Given the description of an element on the screen output the (x, y) to click on. 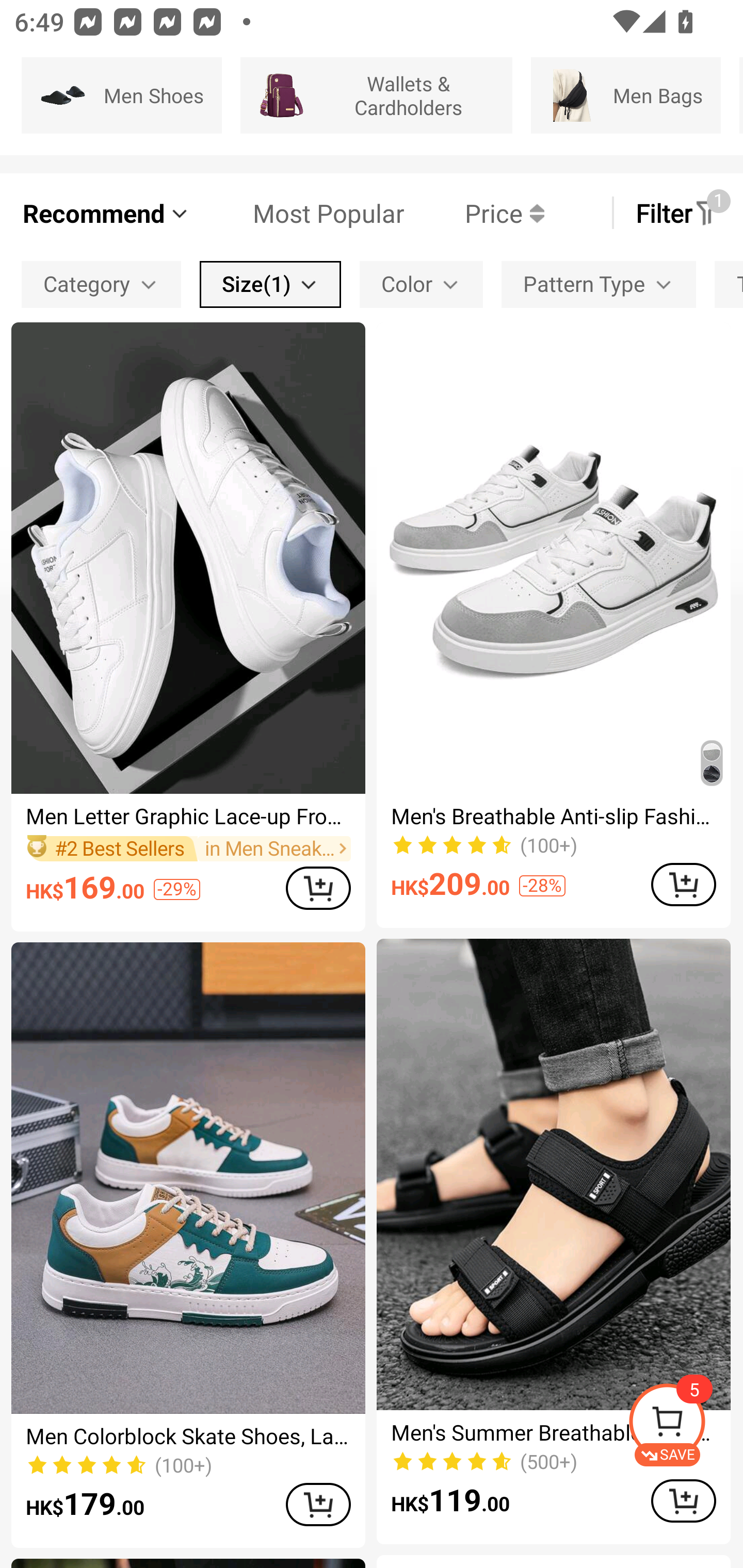
Men Shoes (121, 95)
Wallets & Cardholders (376, 95)
Men Bags (625, 95)
Recommend (106, 213)
Most Popular (297, 213)
Price (474, 213)
Filter 1 (677, 213)
Category (101, 283)
Size(1) (270, 283)
Color (420, 283)
Pattern Type (598, 283)
#2 Best Sellers in Men Sneakers (188, 848)
ADD TO CART (683, 884)
ADD TO CART (318, 888)
SAVE (685, 1424)
ADD TO CART (683, 1500)
ADD TO CART (318, 1504)
